Given the description of an element on the screen output the (x, y) to click on. 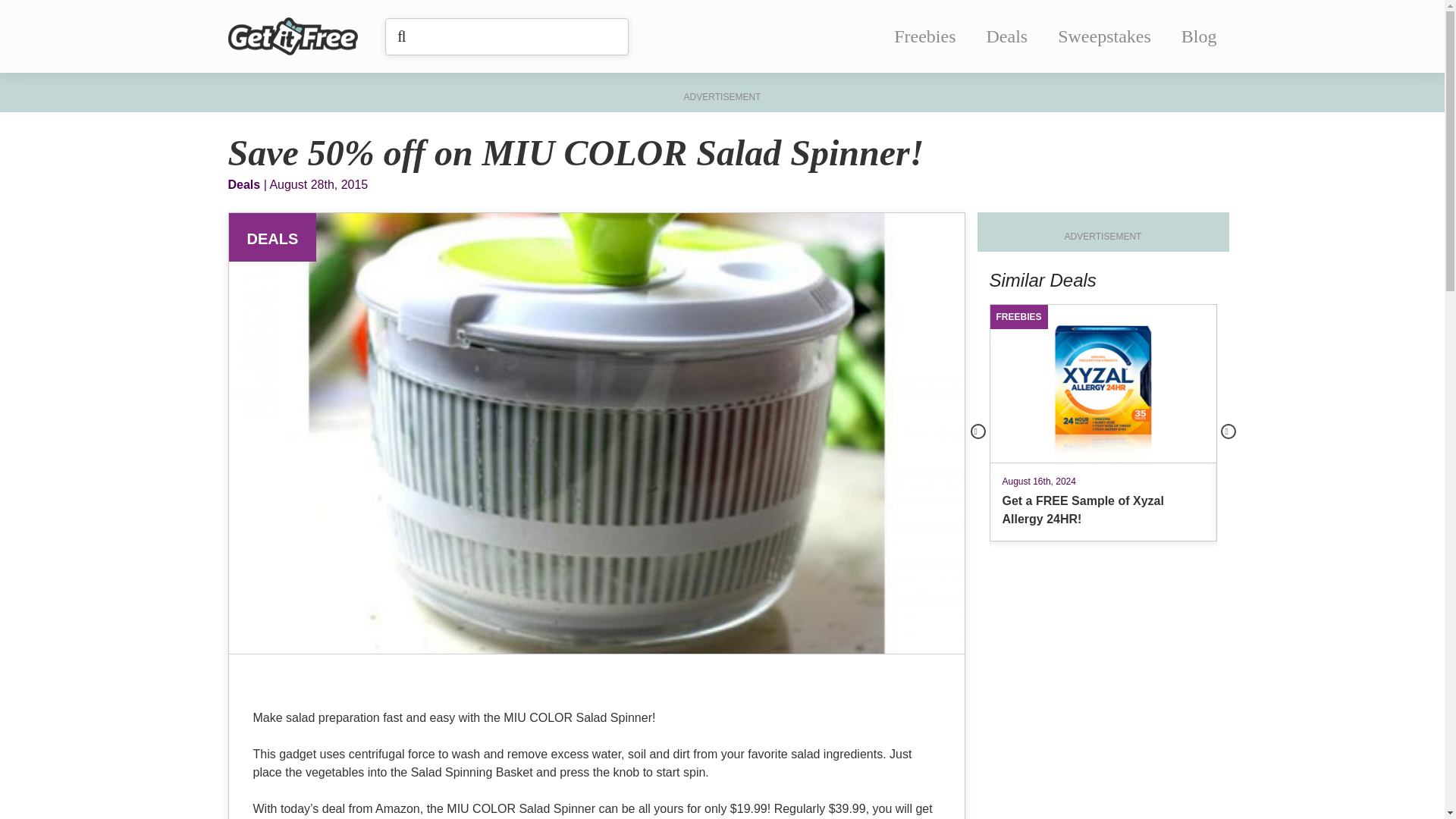
Blog (1198, 35)
Deals (1007, 35)
Next (1228, 431)
Sweepstakes (1104, 35)
Previous (978, 431)
Freebies (924, 35)
